Given the description of an element on the screen output the (x, y) to click on. 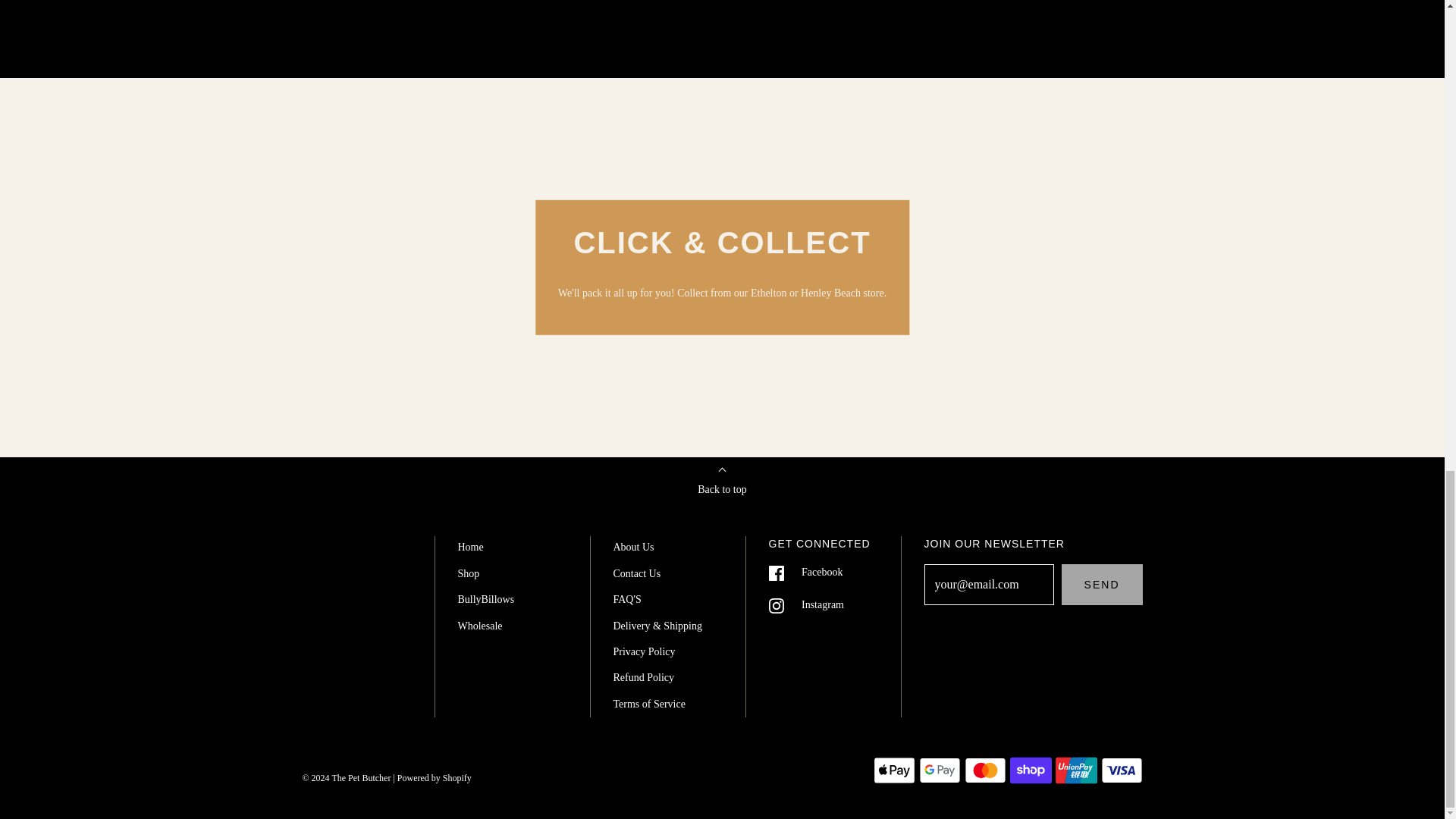
Facebook icon (776, 572)
Google Pay (939, 770)
Apple Pay (894, 770)
Union Pay (1076, 770)
Mastercard (984, 770)
Instagram icon (776, 605)
Visa (1121, 770)
Shop Pay (1030, 770)
